Given the description of an element on the screen output the (x, y) to click on. 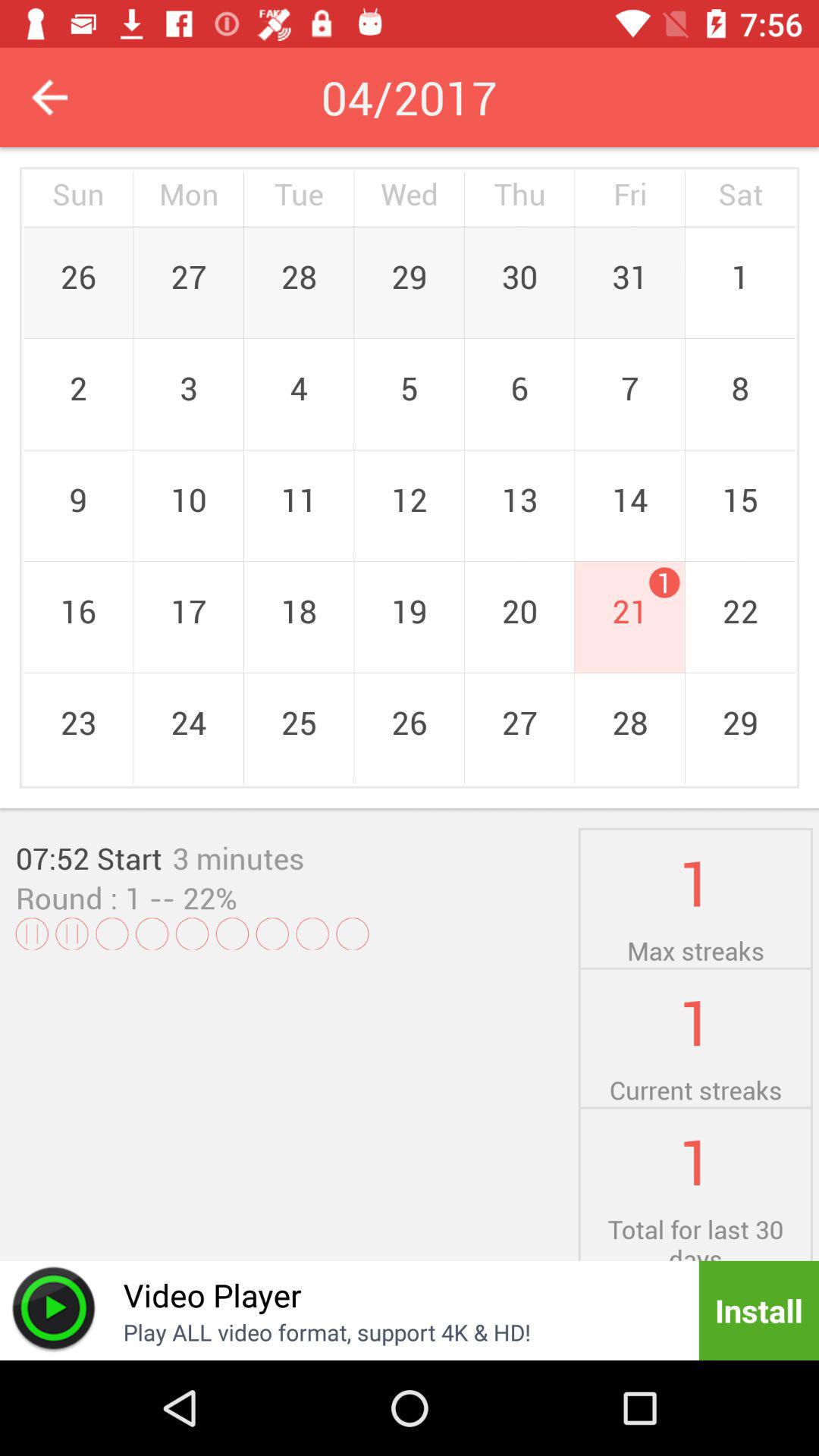
choose the icon below the round : 1 icon (289, 933)
